Given the description of an element on the screen output the (x, y) to click on. 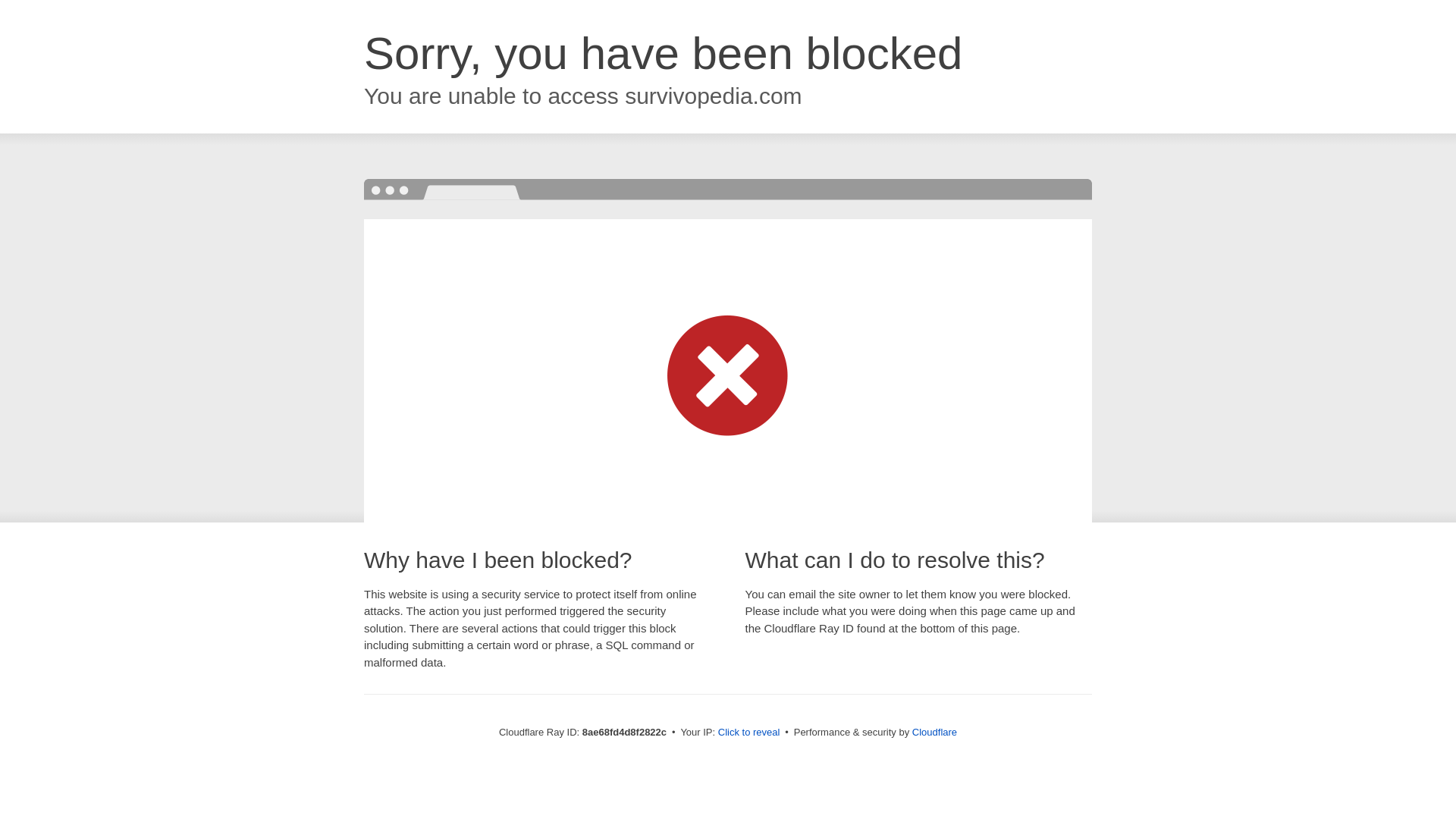
Cloudflare (934, 731)
Click to reveal (748, 732)
